Given the description of an element on the screen output the (x, y) to click on. 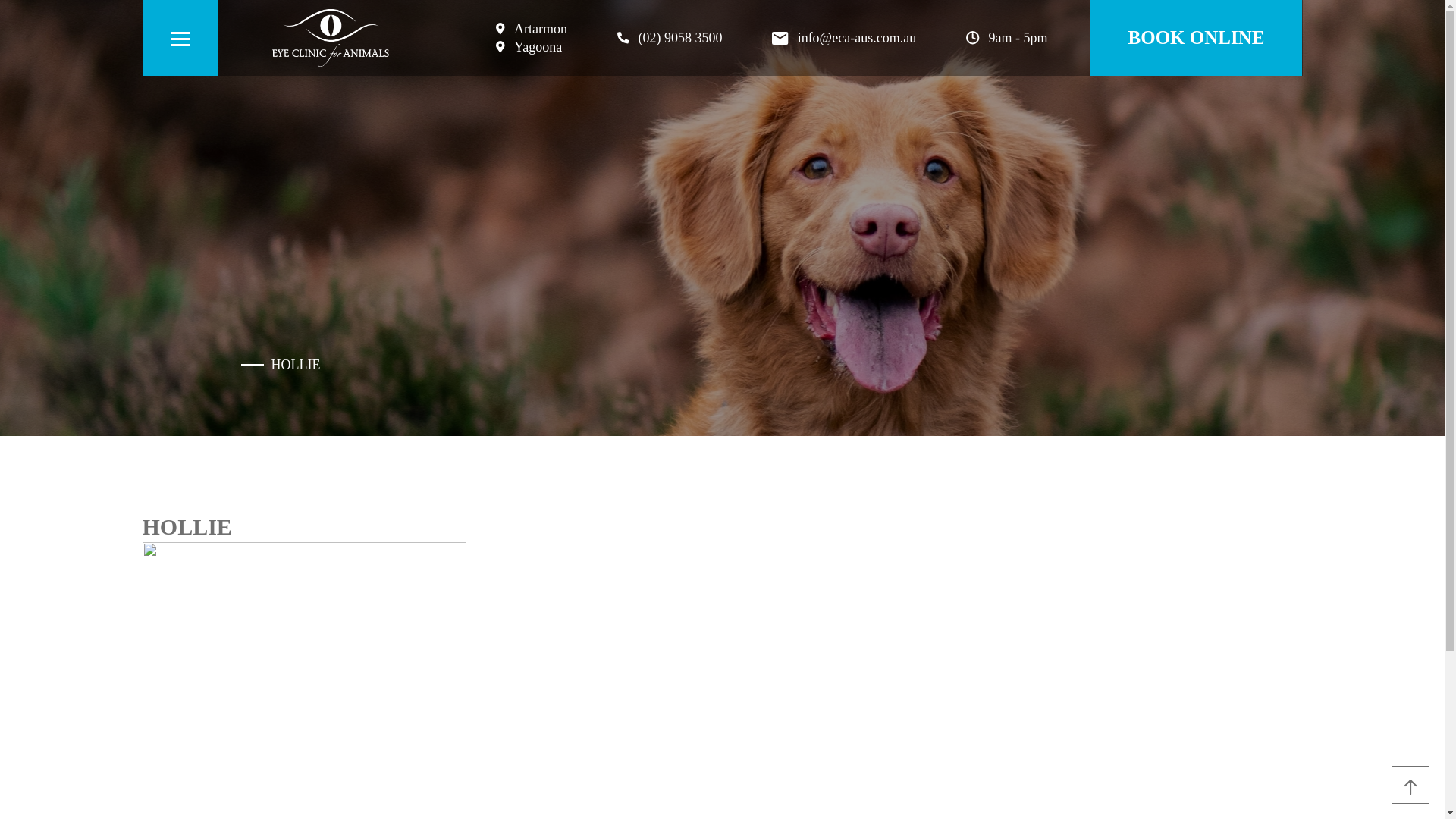
BOOK ONLINE (1195, 38)
Artarmon (531, 28)
Yagoona (531, 46)
